Given the description of an element on the screen output the (x, y) to click on. 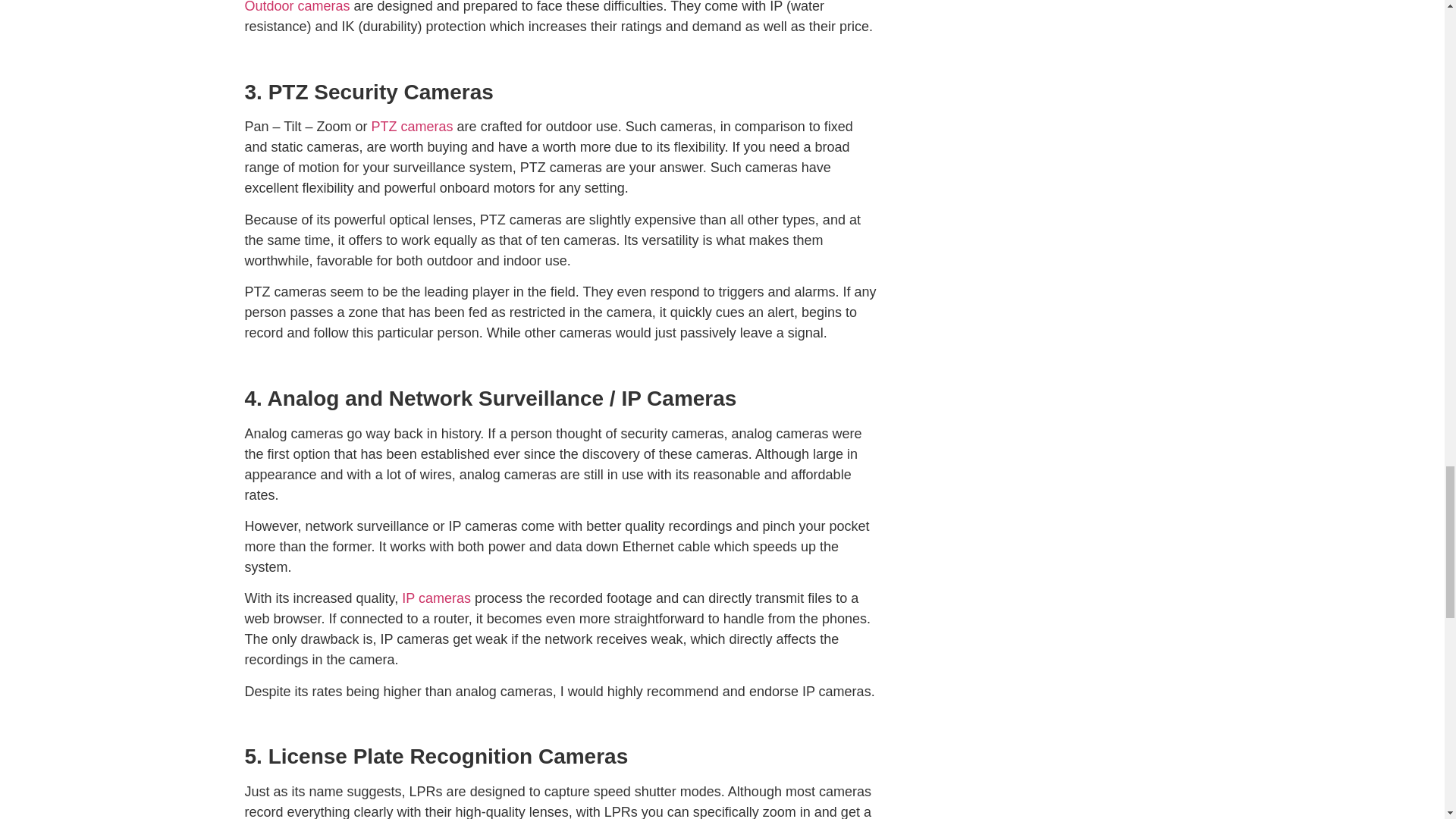
IP cameras (435, 598)
PTZ cameras (411, 126)
Outdoor cameras (296, 6)
